Given the description of an element on the screen output the (x, y) to click on. 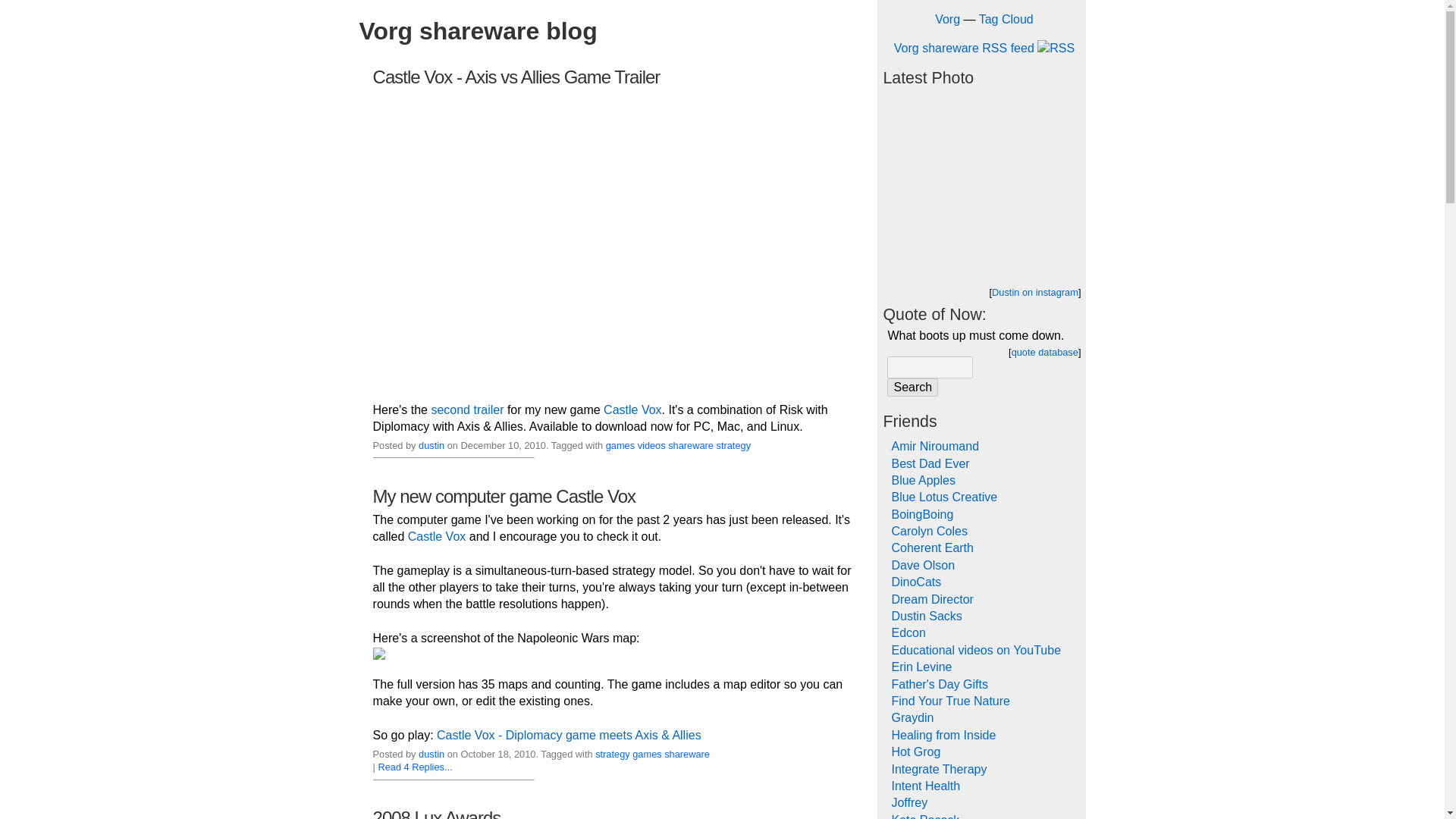
dustin (431, 445)
second trailer (466, 409)
shareware (686, 754)
dustin (431, 754)
games (646, 754)
Search (911, 387)
Castle Vox - Axis vs Allies Game Trailer (516, 76)
Castle Vox (632, 409)
videos (651, 445)
My new computer game Castle Vox (504, 495)
